Given the description of an element on the screen output the (x, y) to click on. 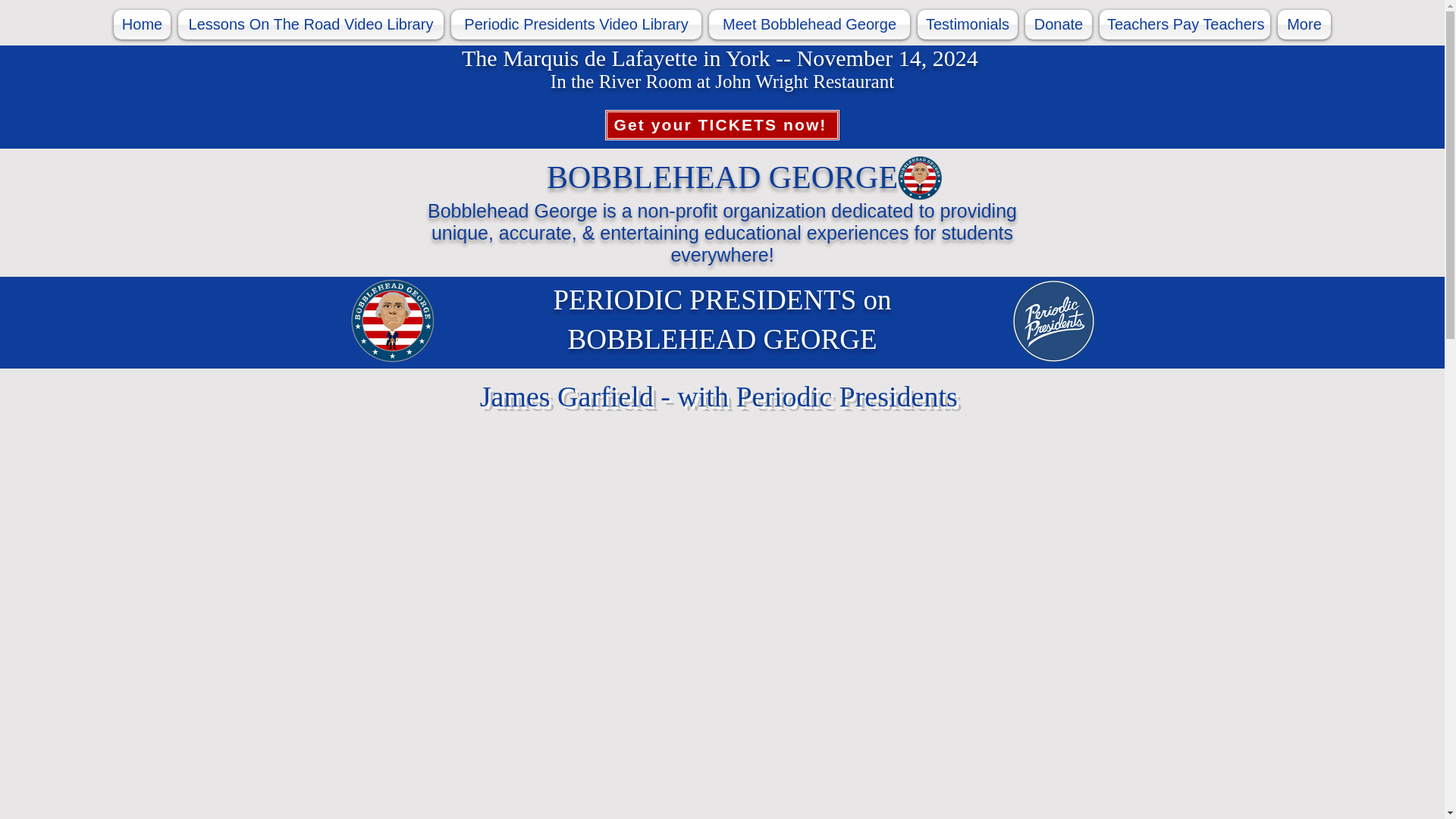
Get your TICKETS now! (722, 124)
Bobblehead George (920, 177)
Lessons On The Road Video Library (310, 24)
Meet Bobblehead George (809, 24)
Periodic Presidents Video Library (575, 24)
Teachers Pay Teachers (1185, 24)
Testimonials (968, 24)
Home (142, 24)
Donate (1059, 24)
